Given the description of an element on the screen output the (x, y) to click on. 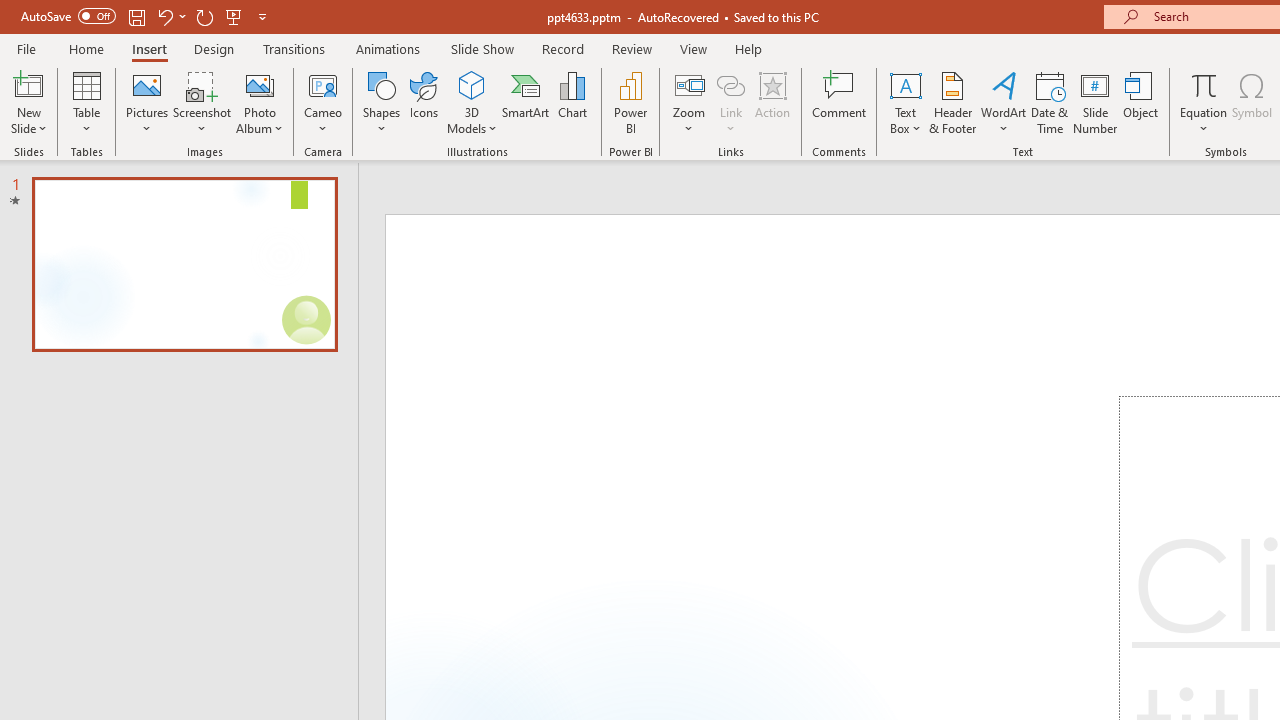
Pictures (147, 102)
Action (772, 102)
Screenshot (202, 102)
3D Models (472, 102)
Chart... (572, 102)
Header & Footer... (952, 102)
Table (86, 102)
